Given the description of an element on the screen output the (x, y) to click on. 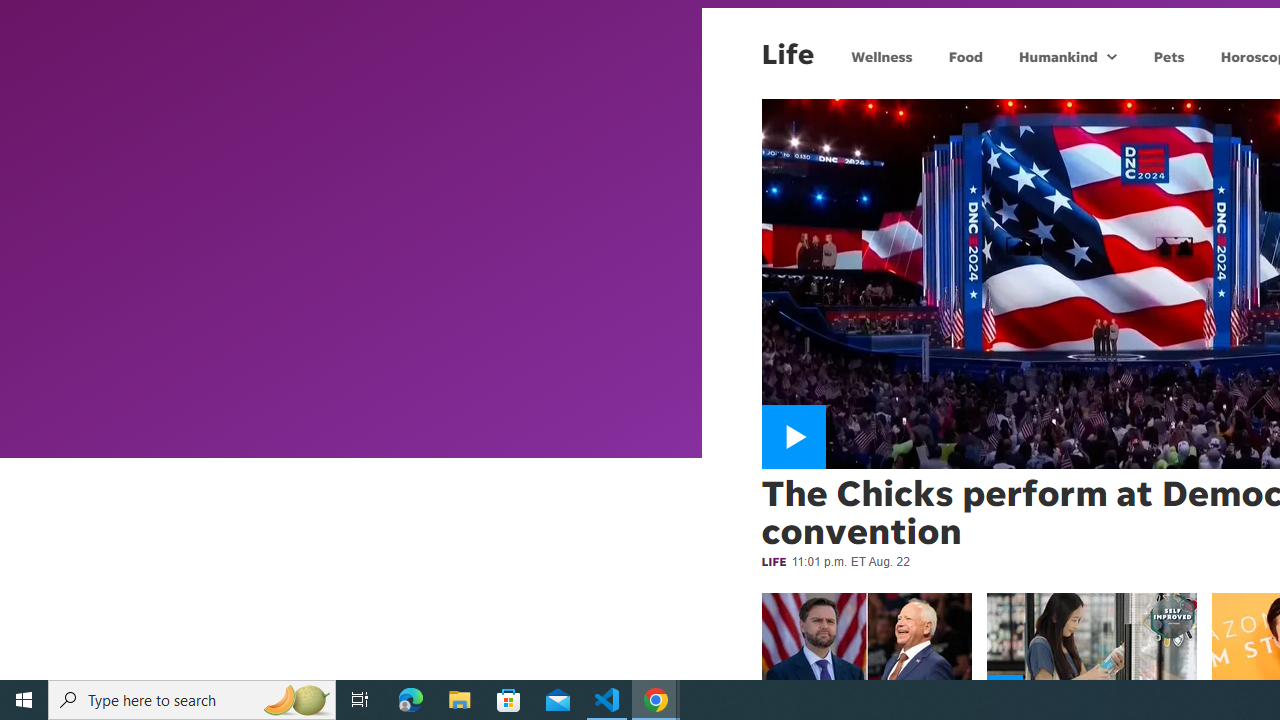
File Explorer (460, 699)
